Given the description of an element on the screen output the (x, y) to click on. 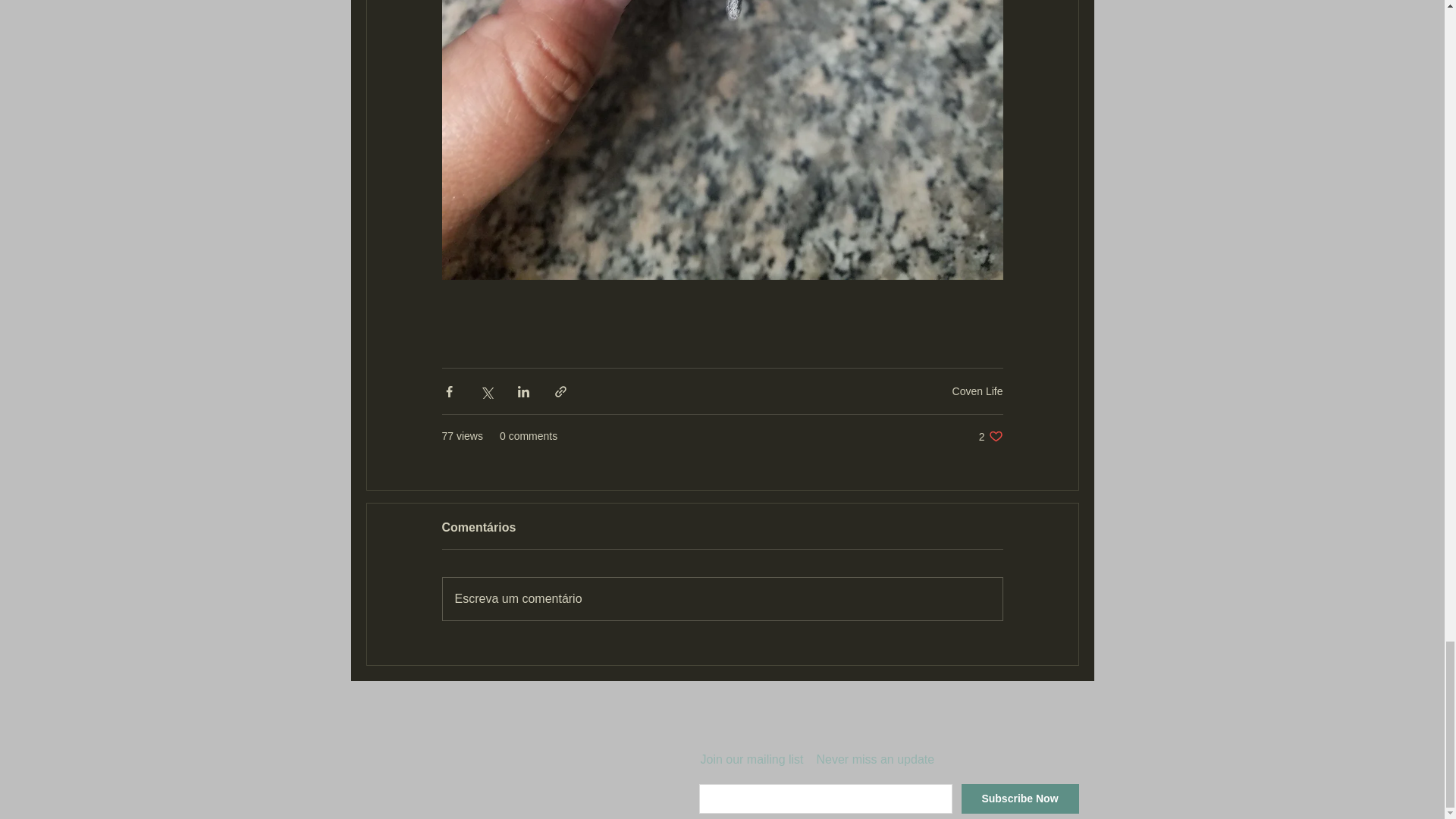
Subscribe Now (990, 436)
Coven Life (1019, 798)
